Given the description of an element on the screen output the (x, y) to click on. 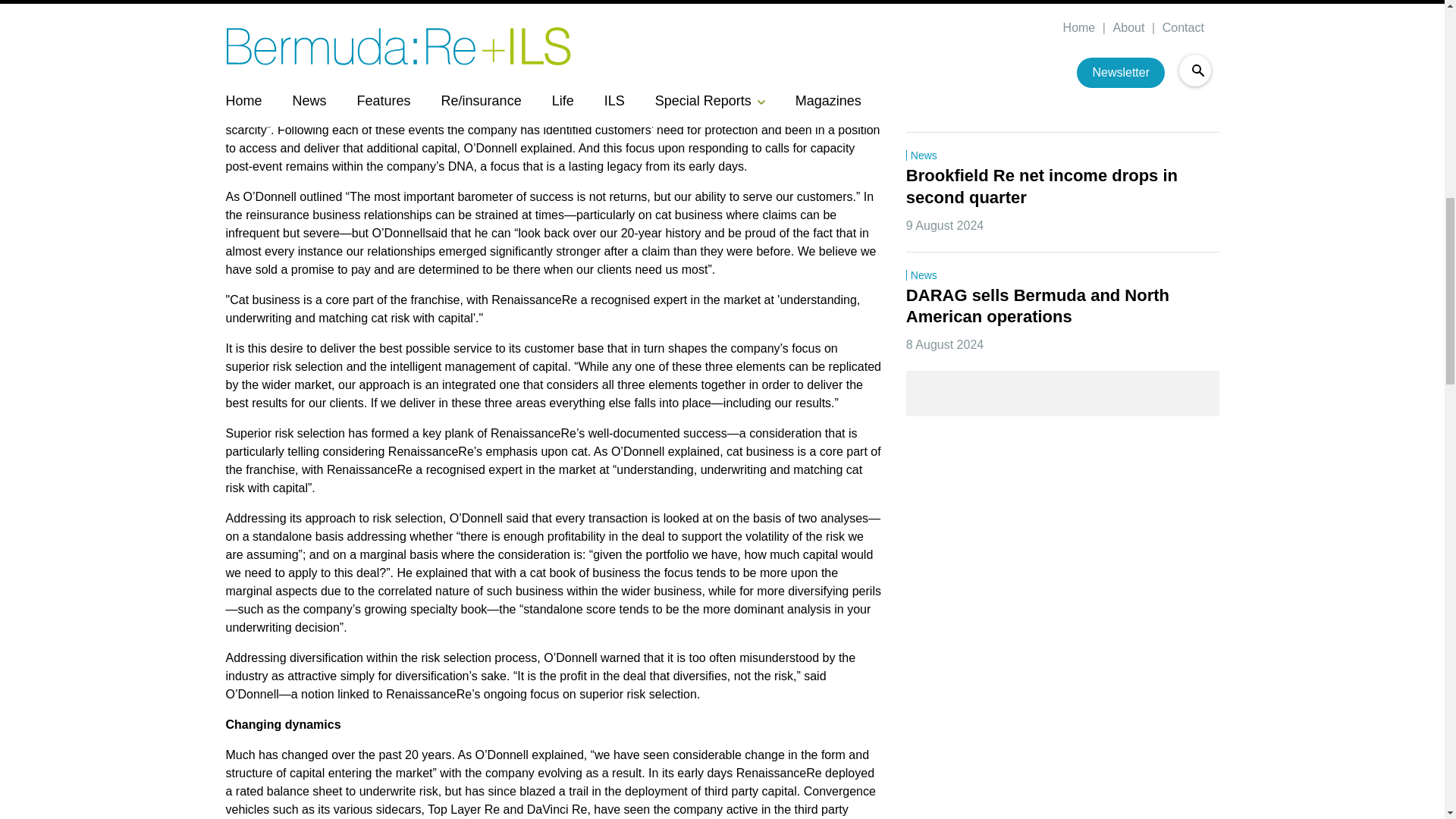
DARAG sells Bermuda and North American operations (1039, 307)
BMA licenses Meanwhile as a digital life insurer (1051, 68)
Brookfield Re net income drops in second quarter (1043, 187)
